Given the description of an element on the screen output the (x, y) to click on. 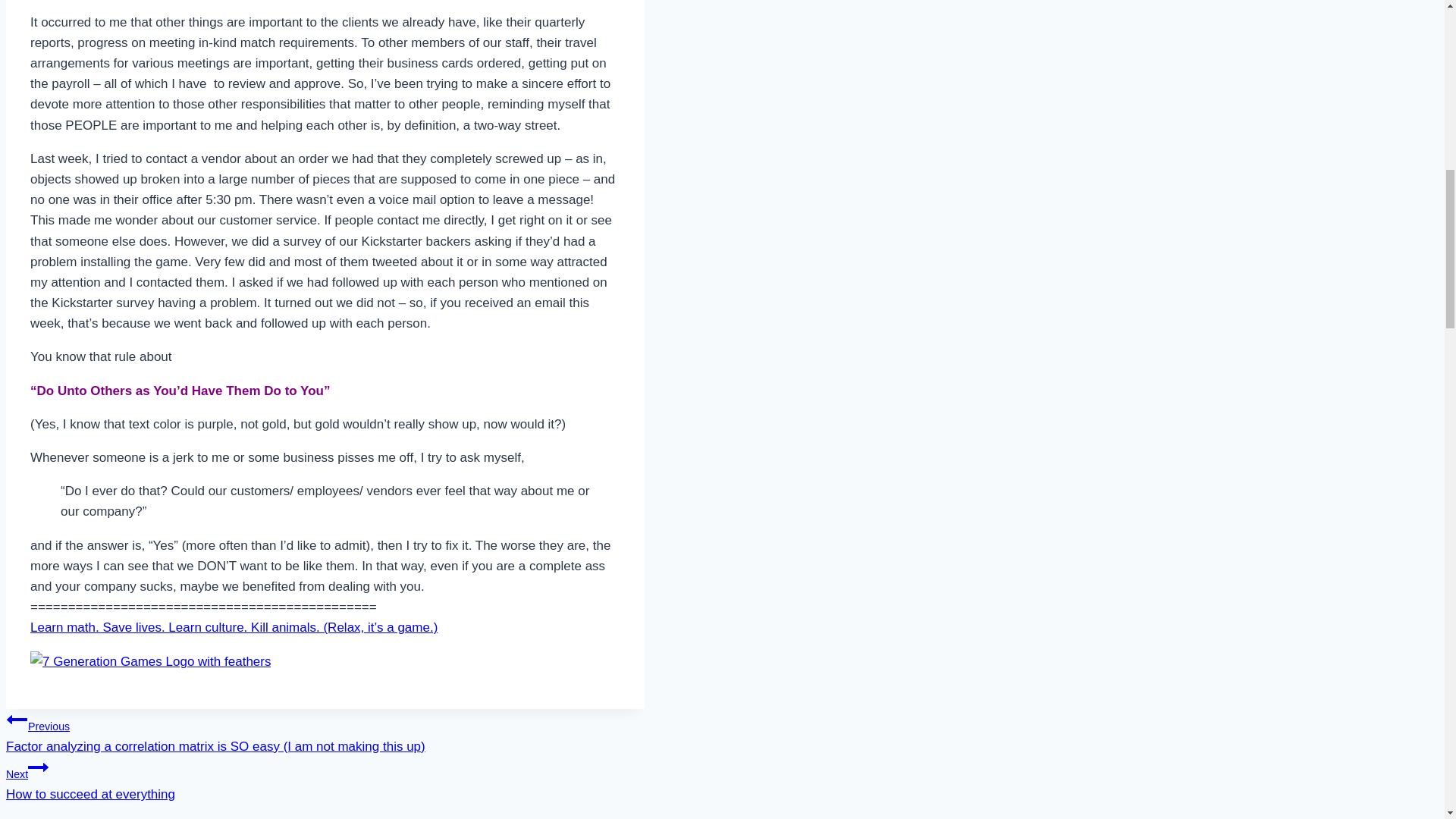
Continue (37, 767)
Previous (16, 719)
